Given the description of an element on the screen output the (x, y) to click on. 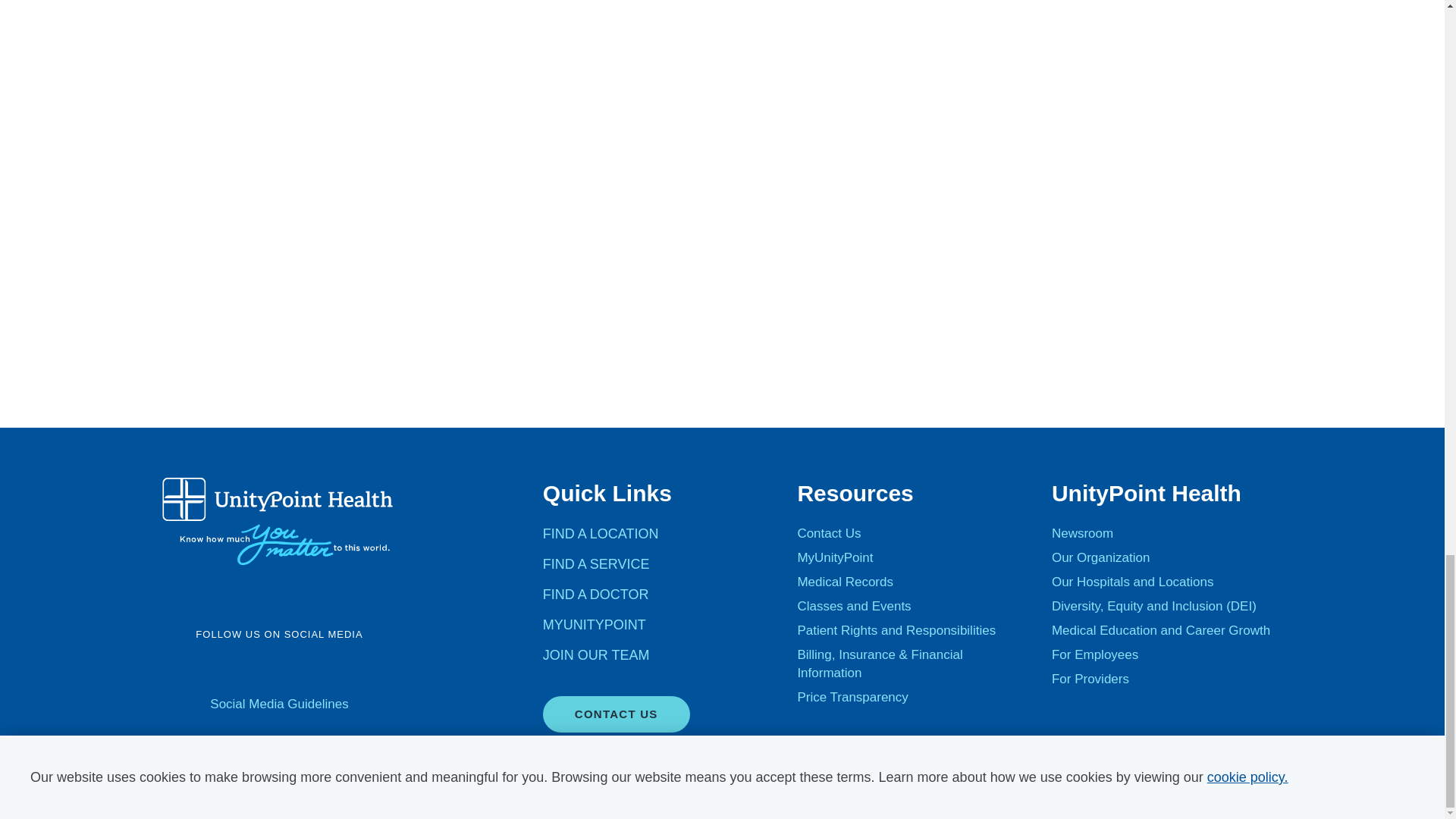
Twitter (220, 669)
Instagram (299, 669)
Pinterest (377, 669)
YouTube (259, 669)
Facebook (179, 669)
Linkedin (338, 669)
